Given the description of an element on the screen output the (x, y) to click on. 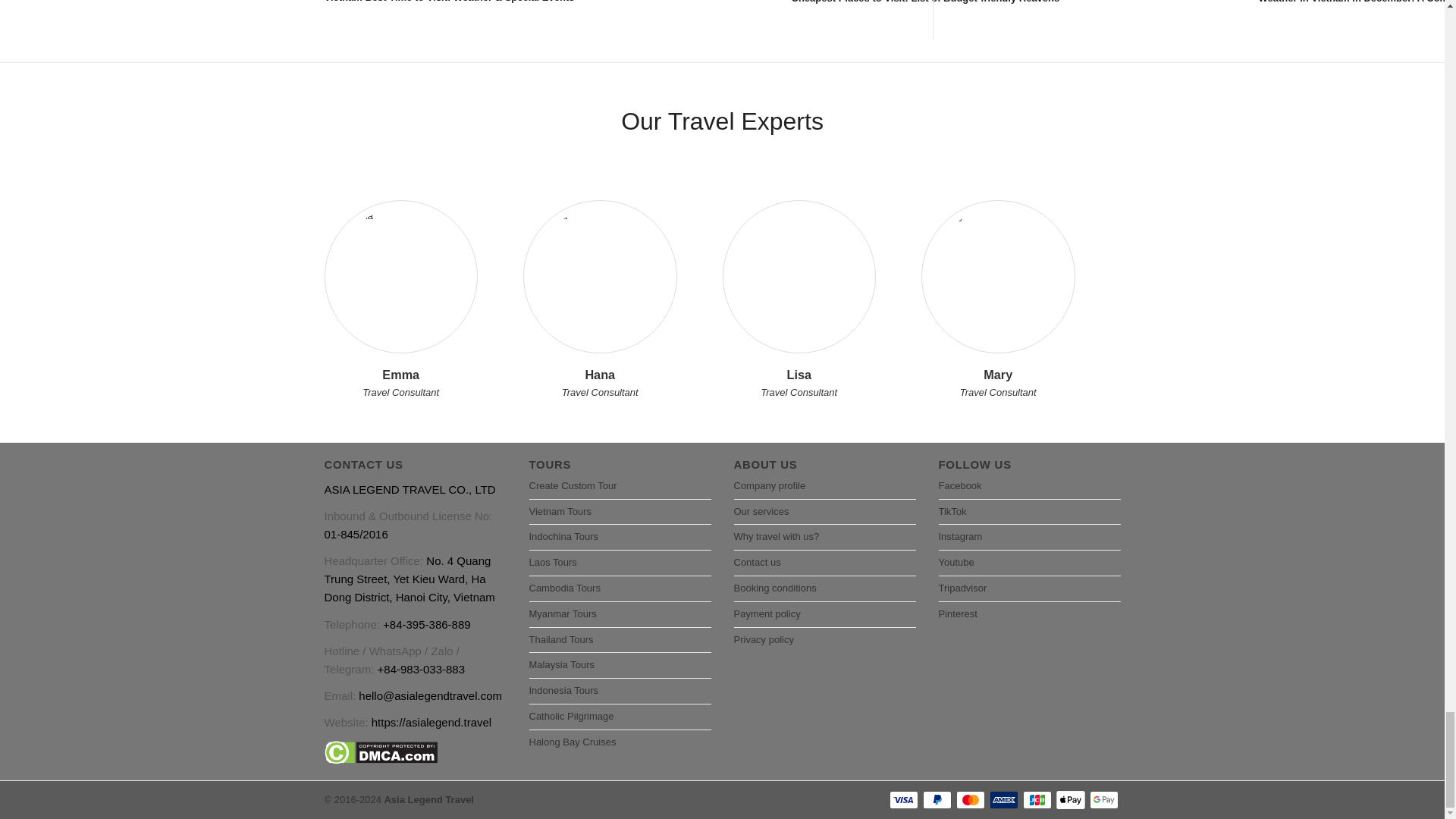
Mastercard (969, 800)
PayPal (935, 800)
American Express (1002, 800)
Apple Pay (1069, 800)
Google Pay (1103, 800)
JCB (1036, 800)
Visa (902, 800)
